Given the description of an element on the screen output the (x, y) to click on. 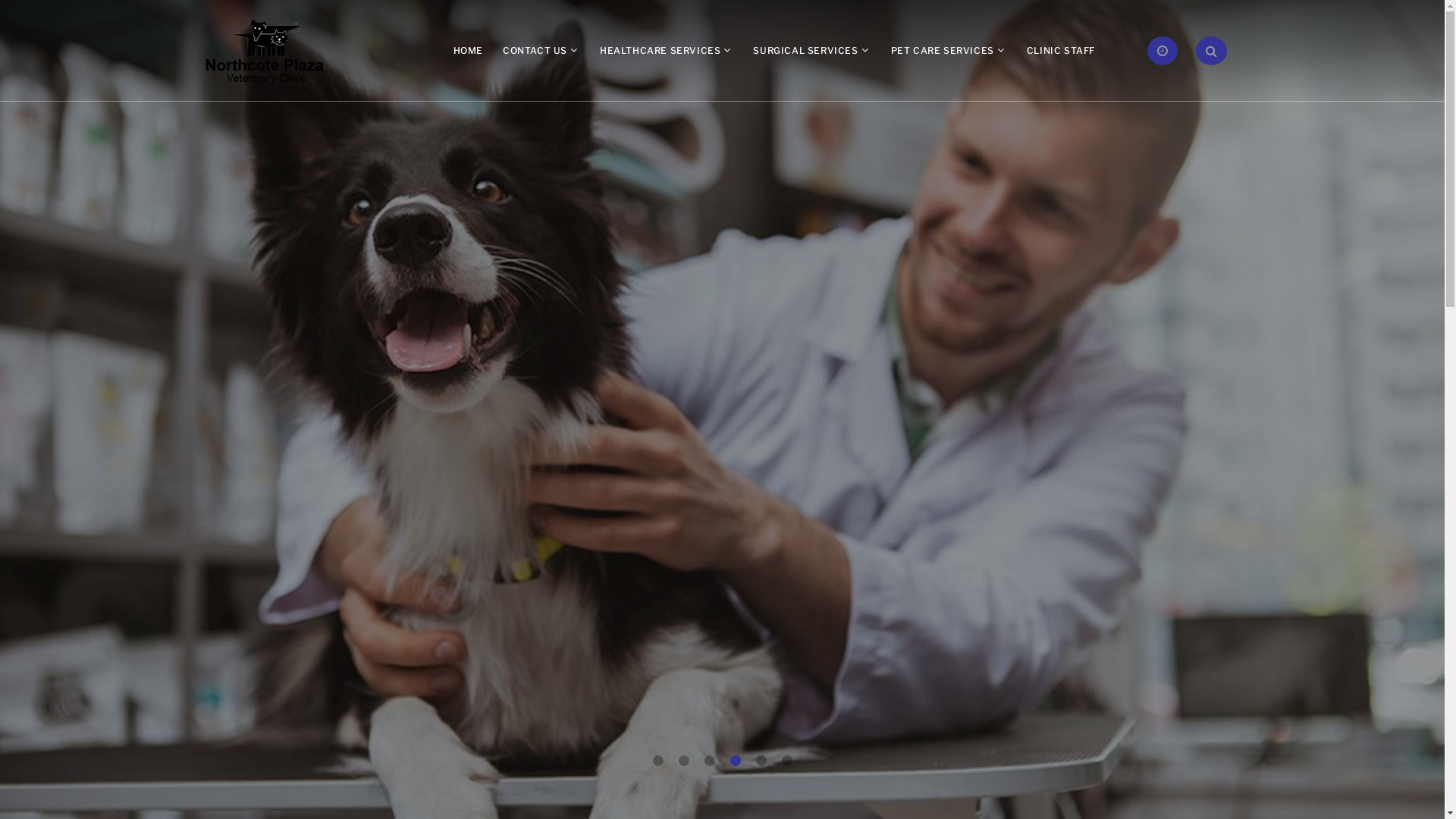
HEALTHCARE SERVICES Element type: text (659, 50)
HOME Element type: text (468, 50)
CLINIC STAFF Element type: text (1060, 50)
CONTACT US Element type: text (534, 50)
SURGICAL SERVICES Element type: text (805, 50)
PET CARE SERVICES Element type: text (942, 50)
